Given the description of an element on the screen output the (x, y) to click on. 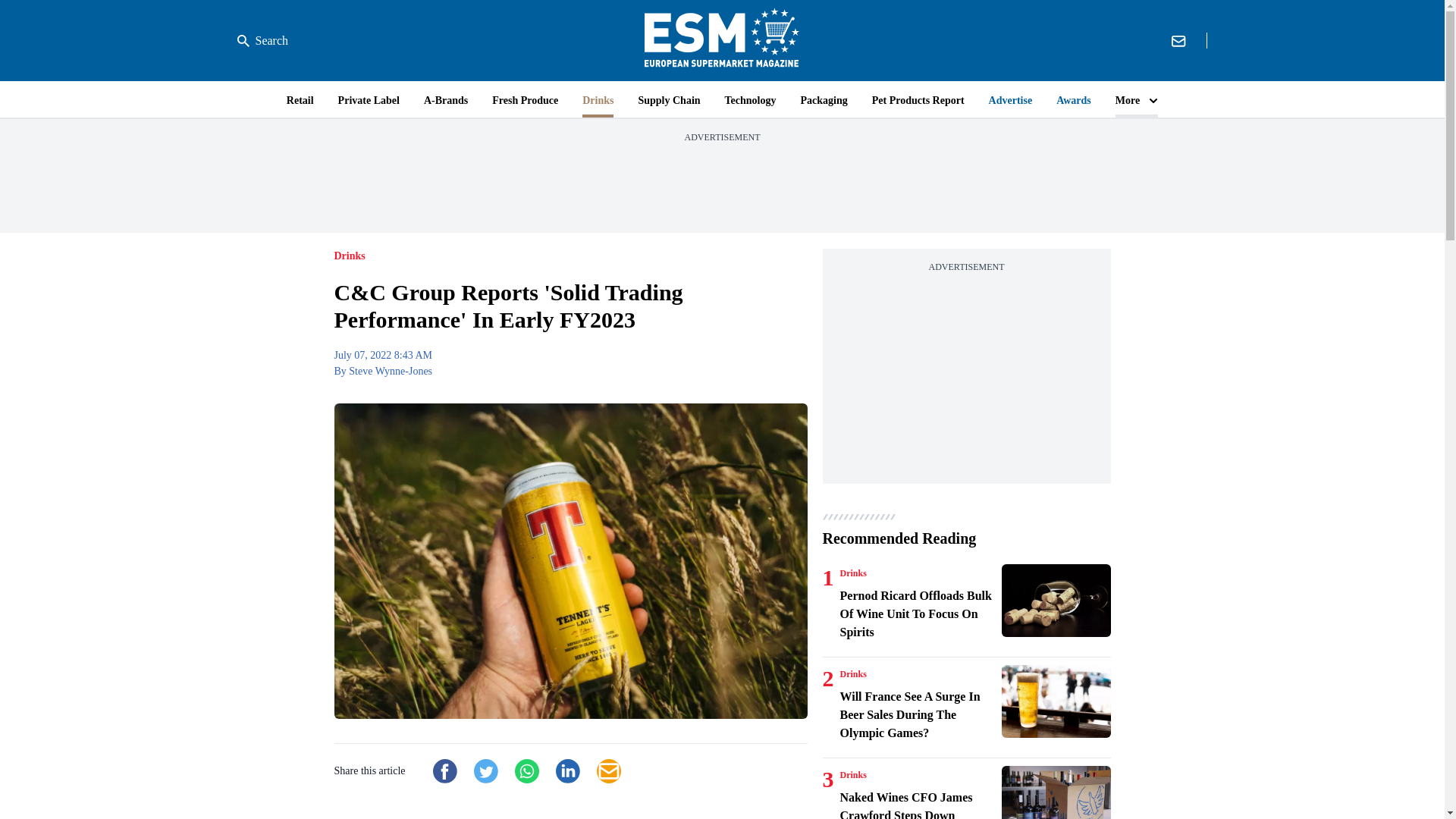
Drinks (853, 573)
Pernod Ricard Offloads Bulk Of Wine Unit To Focus On Spirits (1055, 600)
Drinks (853, 674)
Pernod Ricard Offloads Bulk Of Wine Unit To Focus On Spirits (917, 614)
Search (261, 40)
ESM (722, 40)
Drinks (853, 775)
